Given the description of an element on the screen output the (x, y) to click on. 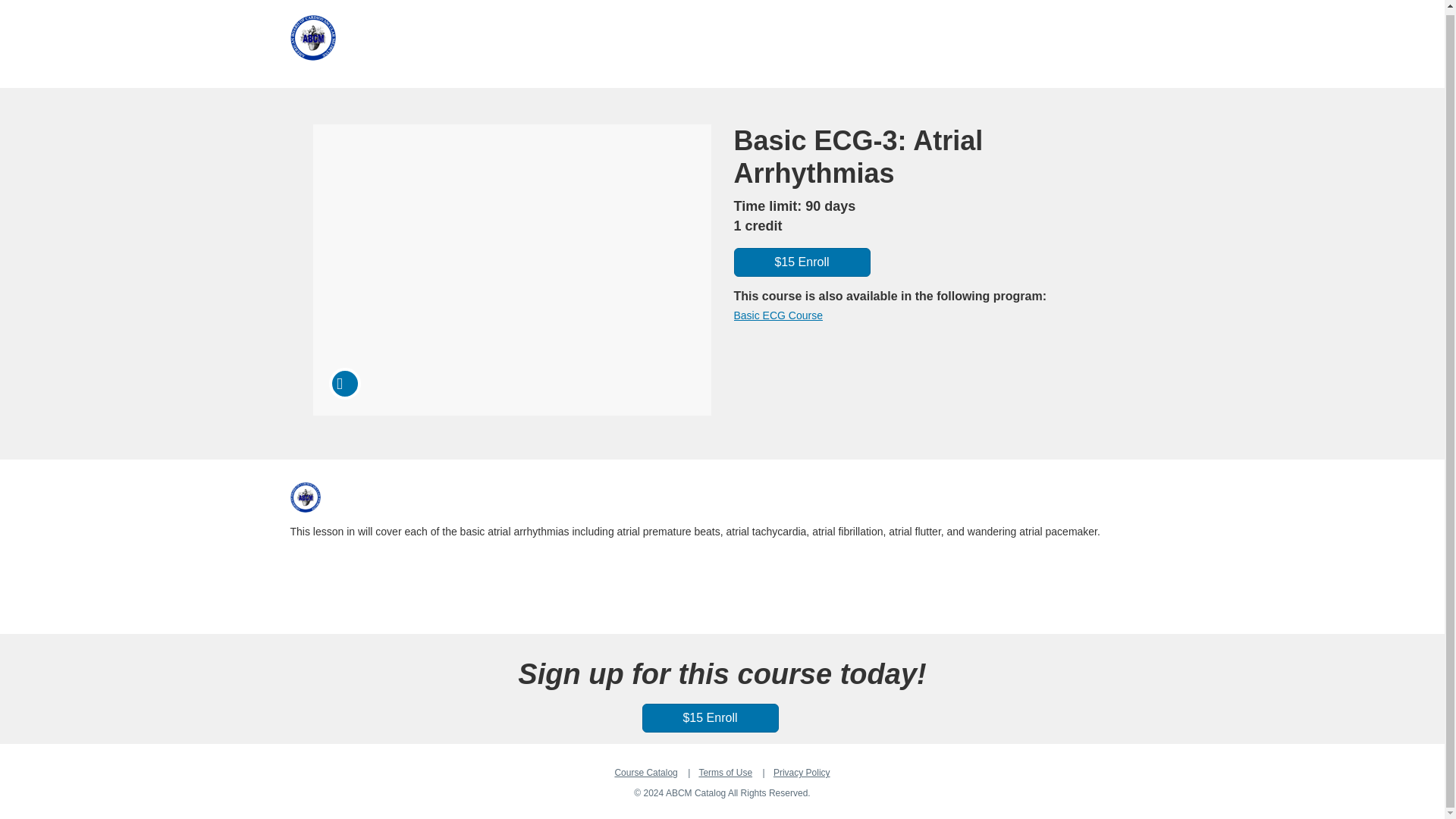
ABCM Catalog (304, 497)
Terms of Use (725, 772)
Privacy Policy (801, 772)
Course Catalog (645, 772)
Course (345, 383)
Basic ECG Course (777, 315)
